Given the description of an element on the screen output the (x, y) to click on. 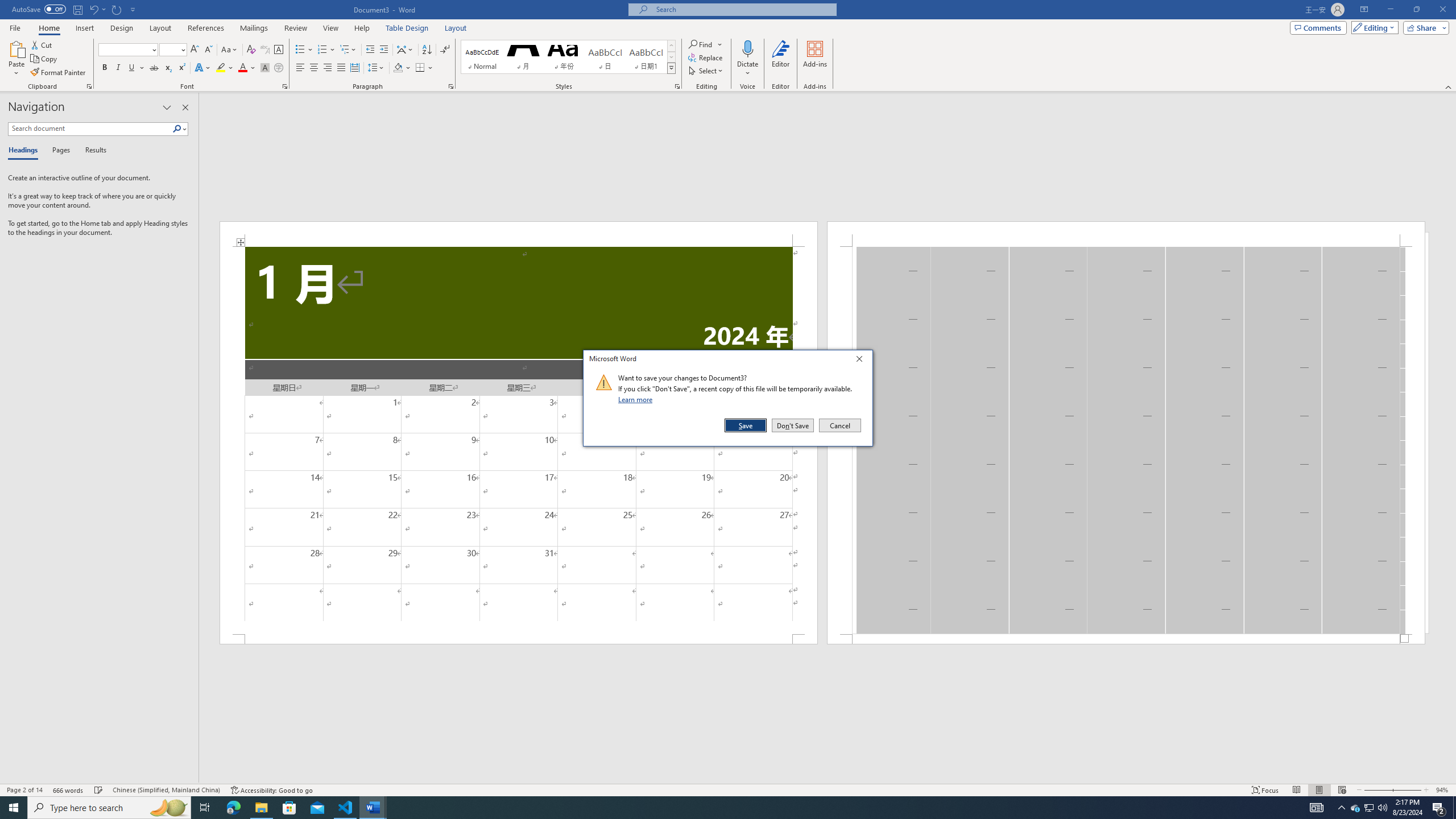
File Explorer - 1 running window (261, 807)
